Given the description of an element on the screen output the (x, y) to click on. 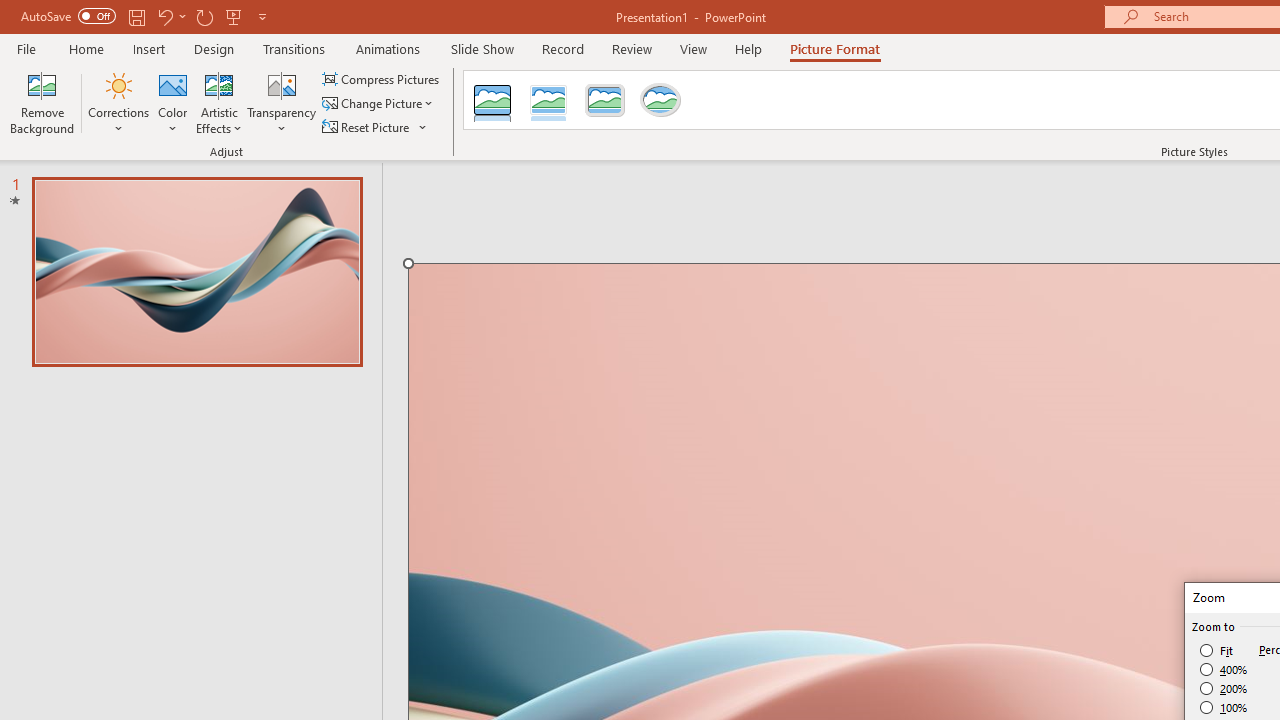
400% (1224, 669)
Compress Pictures... (381, 78)
Color (173, 102)
Reflected Bevel, White (548, 100)
100% (1224, 707)
Reset Picture (367, 126)
Reflected Bevel, Black (492, 100)
